Given the description of an element on the screen output the (x, y) to click on. 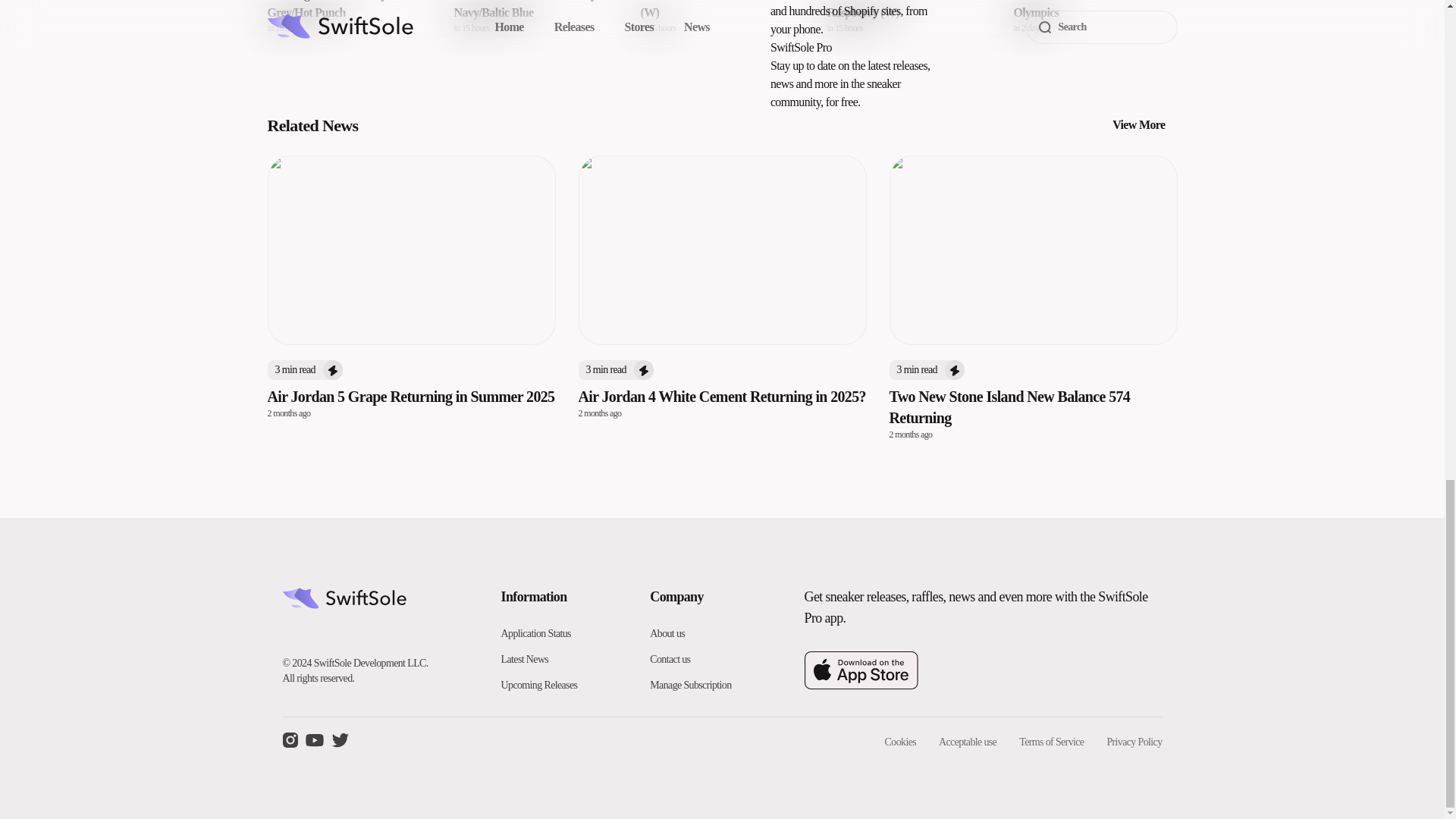
View More (1094, 17)
